Given the description of an element on the screen output the (x, y) to click on. 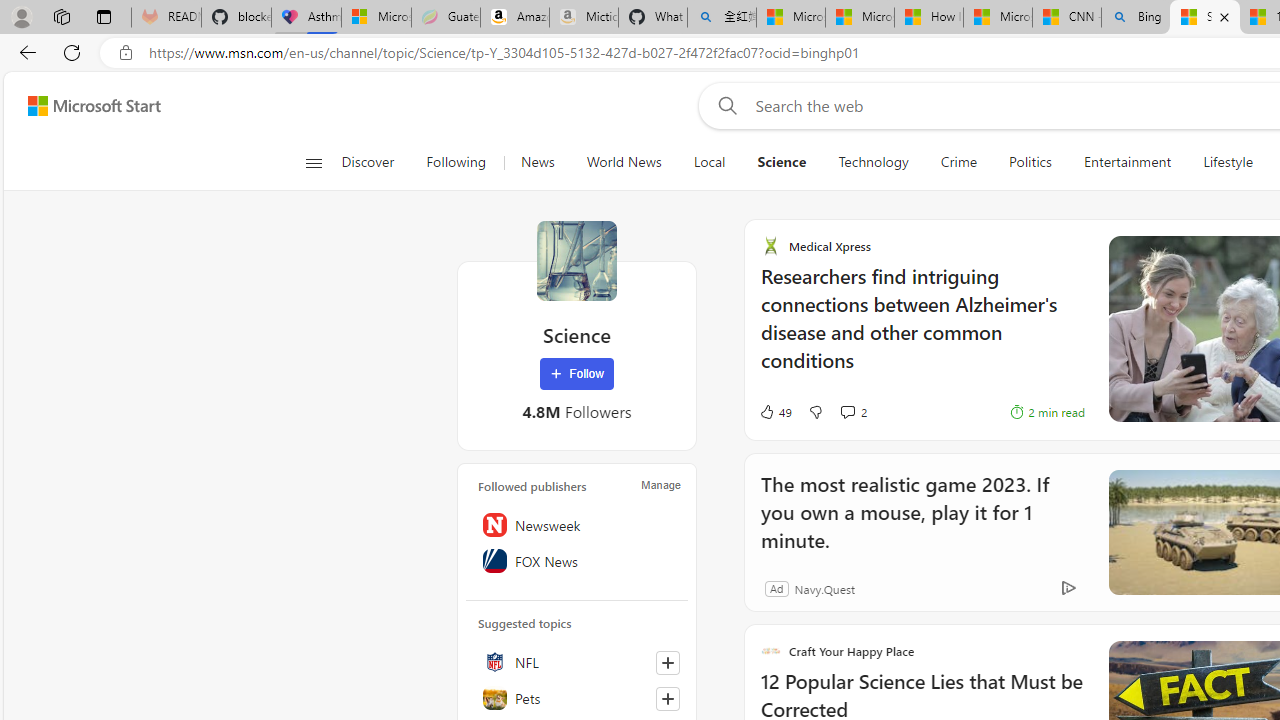
Microsoft-Report a Concern to Bing (375, 17)
Bing (1135, 17)
Asthma Inhalers: Names and Types (305, 17)
